Given the description of an element on the screen output the (x, y) to click on. 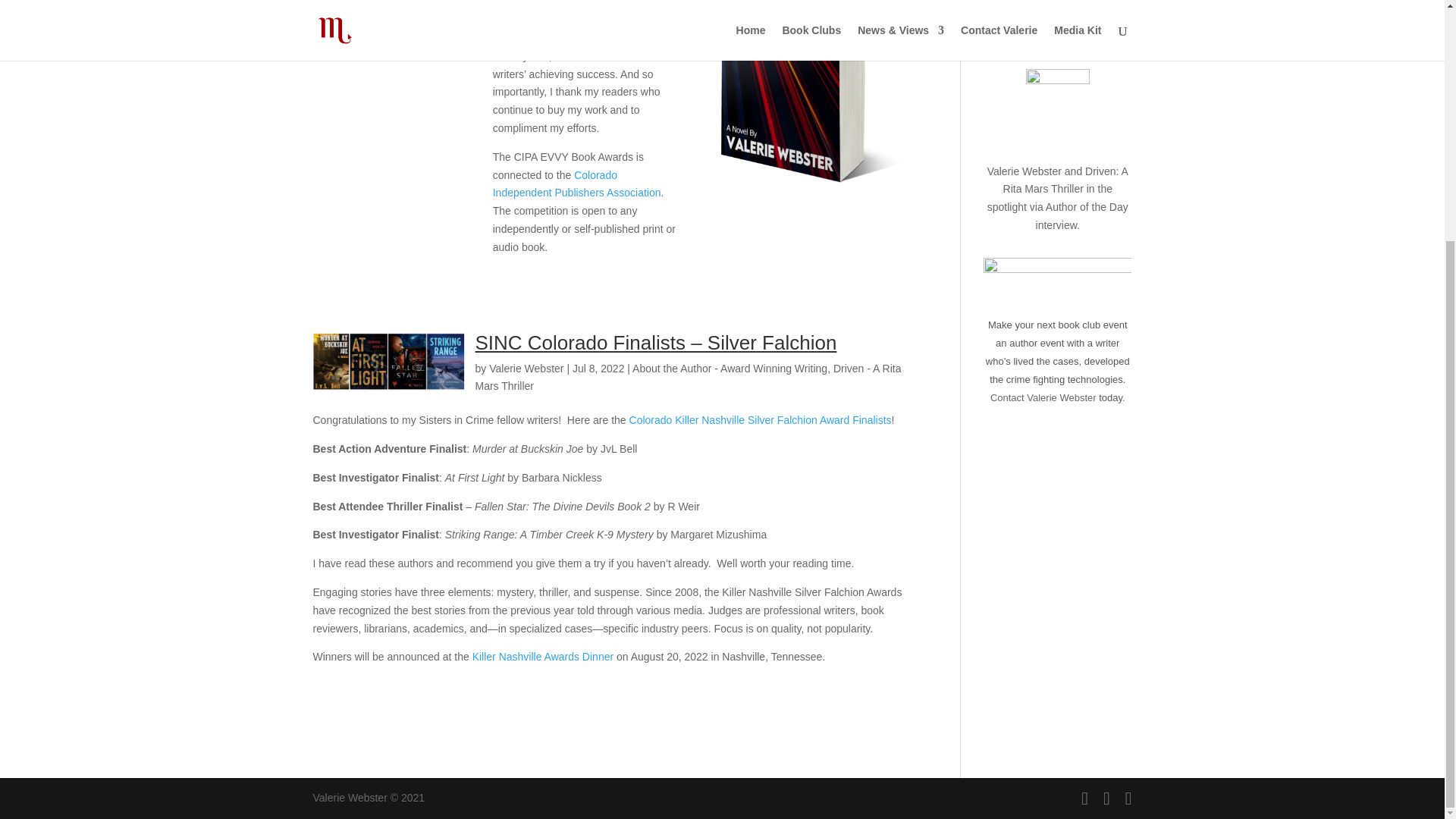
Colorado Killer Nashville Silver Falchion Award Finalists (759, 419)
Posts by Valerie Webster (526, 368)
Killer Nashville Awards Dinner (541, 656)
Valerie Webster (526, 368)
Contact Valerie Webster (1043, 397)
Colorado Independent Publishers Association (577, 183)
About the Author - Award Winning Writing (729, 368)
Driven - A Rita Mars Thriller (687, 377)
